Given the description of an element on the screen output the (x, y) to click on. 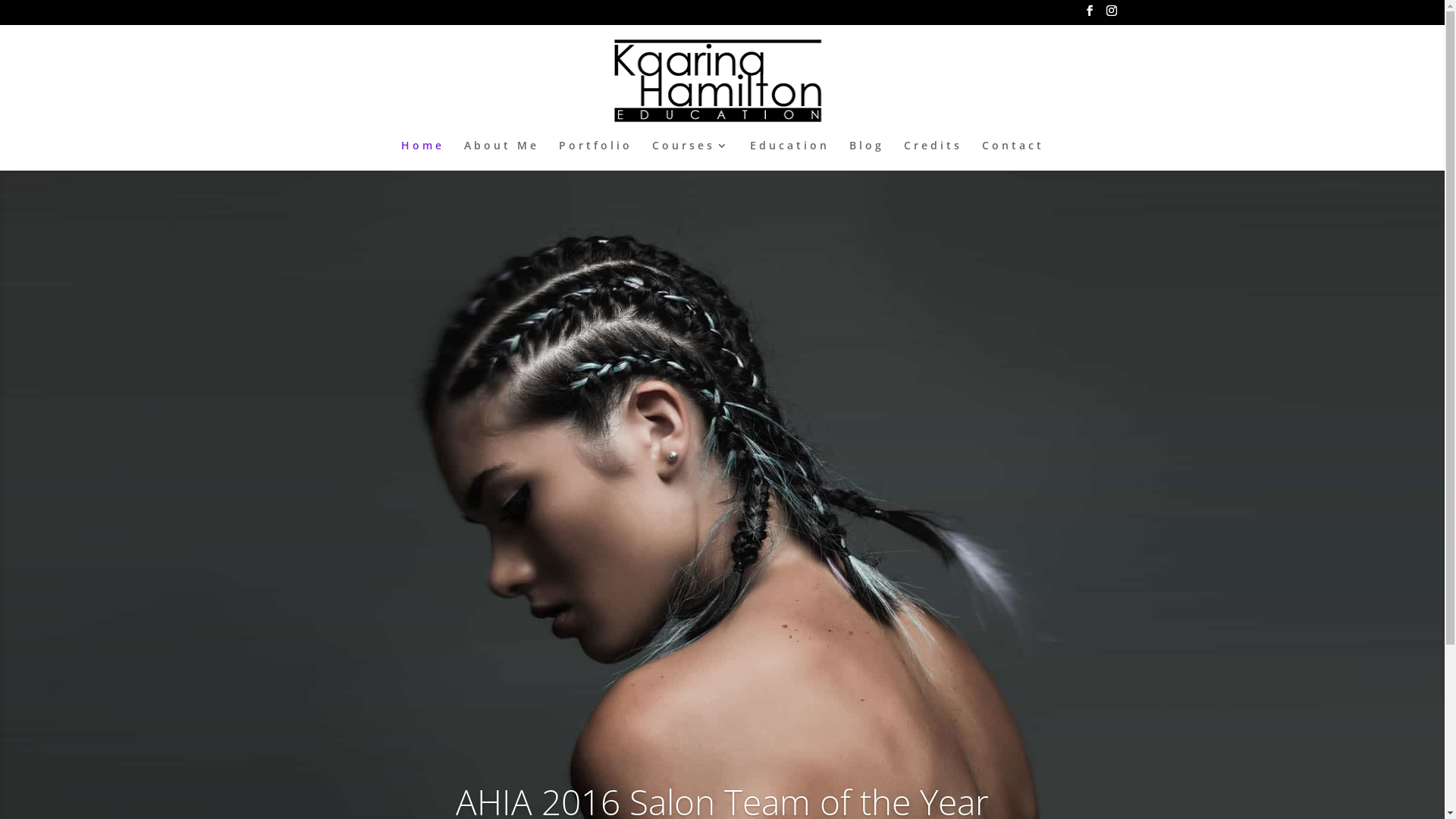
Portfolio Element type: text (594, 154)
Education Element type: text (788, 154)
Credits Element type: text (932, 154)
Blog Element type: text (866, 154)
Home Element type: text (421, 154)
About Me Element type: text (501, 154)
Contact Element type: text (1012, 154)
Courses Element type: text (691, 154)
